Given the description of an element on the screen output the (x, y) to click on. 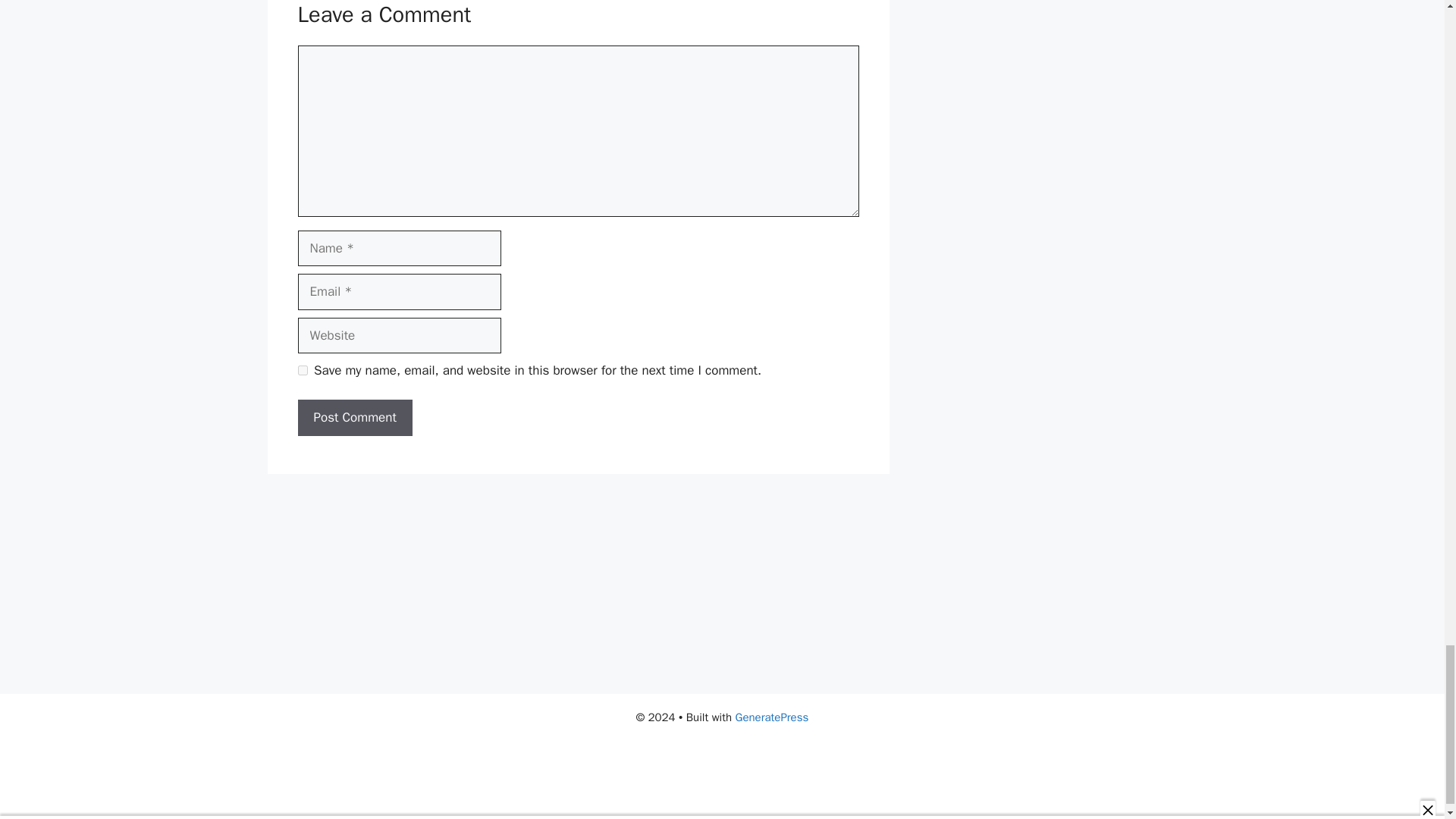
GeneratePress (772, 716)
Post Comment (354, 417)
Post Comment (354, 417)
yes (302, 370)
